Given the description of an element on the screen output the (x, y) to click on. 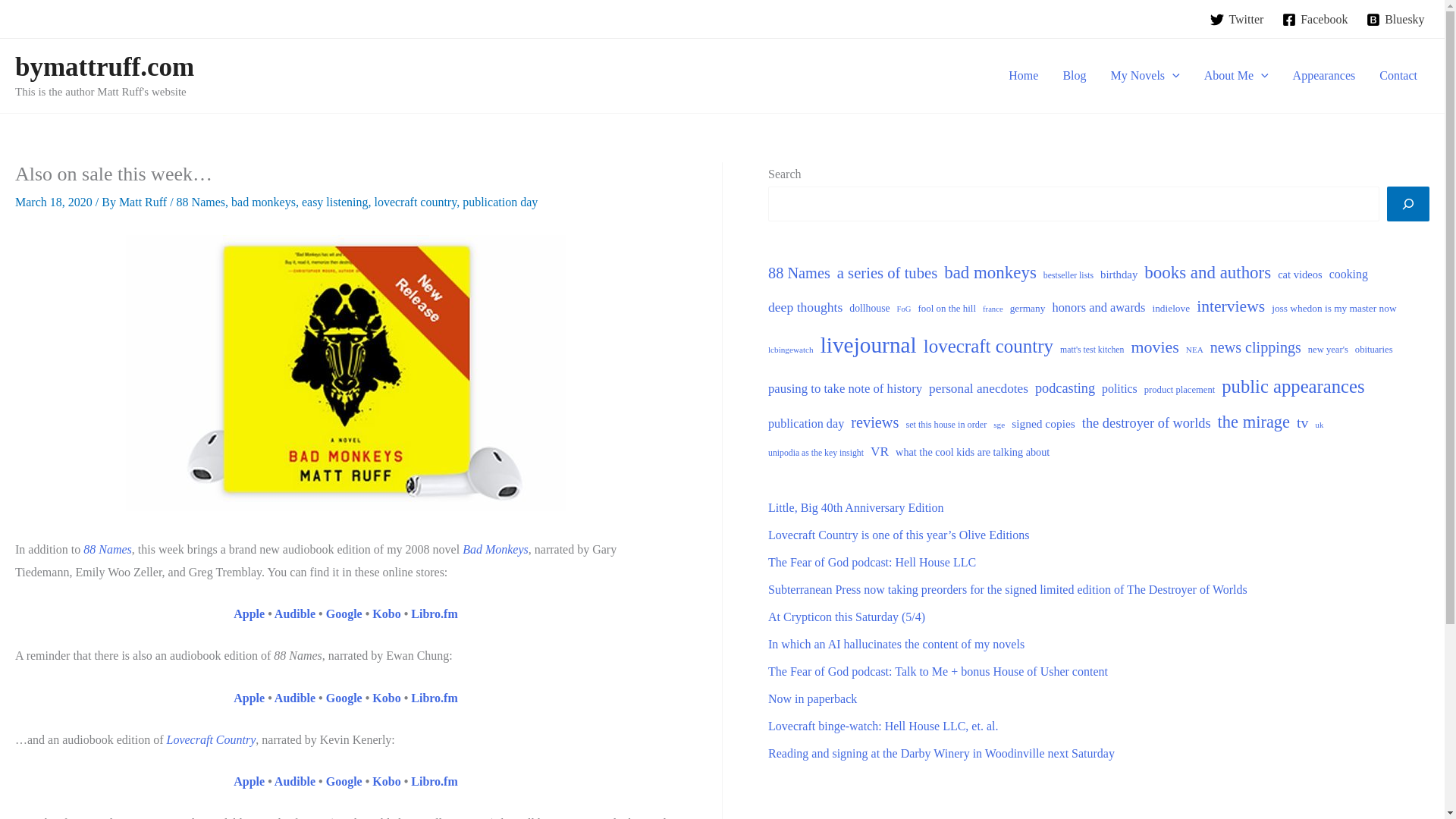
Bluesky (1395, 19)
Contact (1398, 75)
Twitter (1236, 19)
bymattruff.com (103, 66)
Appearances (1324, 75)
Facebook (1315, 19)
My Novels (1145, 75)
About Me (1236, 75)
View all posts by Matt Ruff (144, 201)
